Given the description of an element on the screen output the (x, y) to click on. 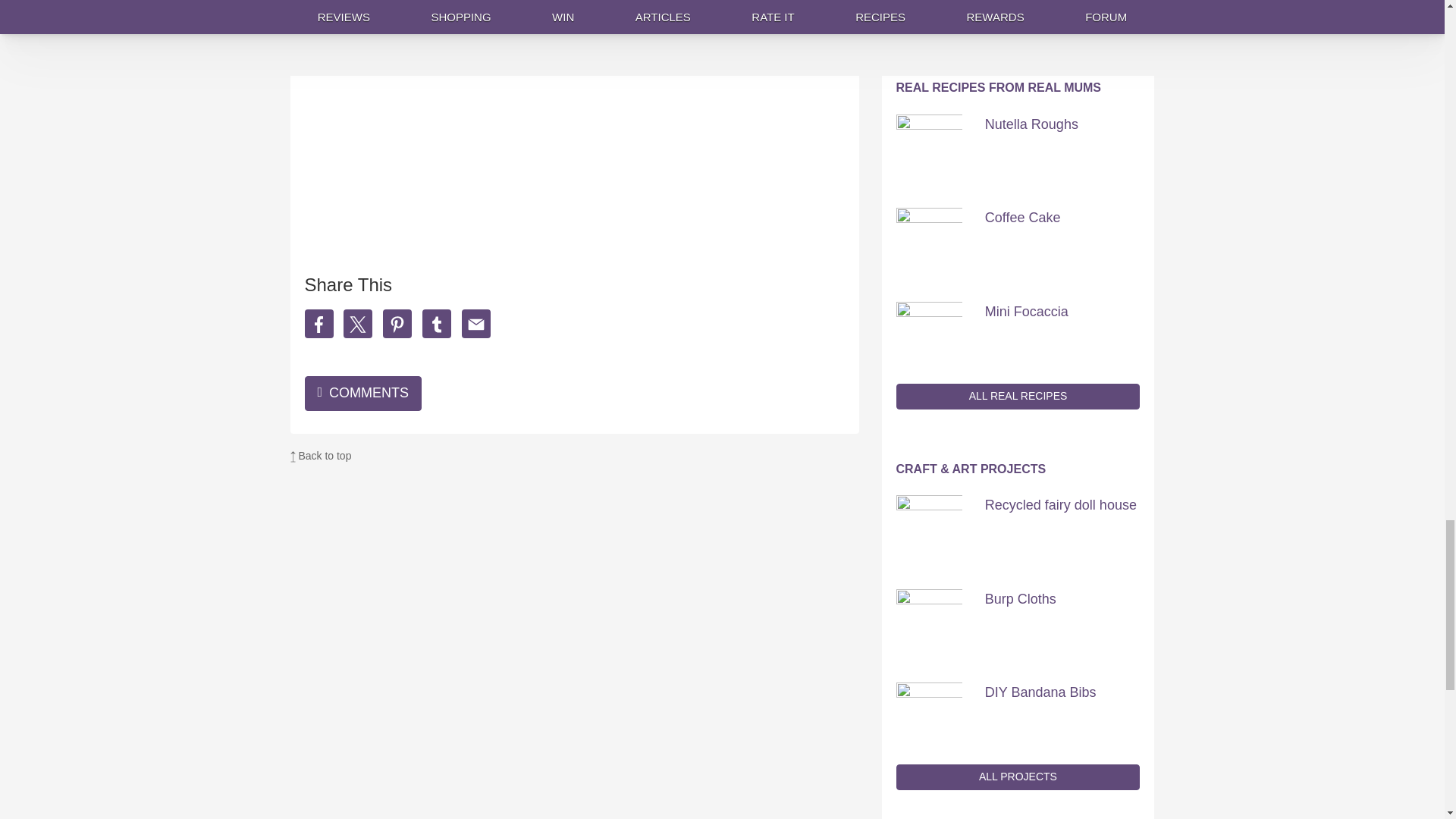
brookestribe (442, 21)
Opens a new window (442, 21)
Learn more (607, 63)
